Given the description of an element on the screen output the (x, y) to click on. 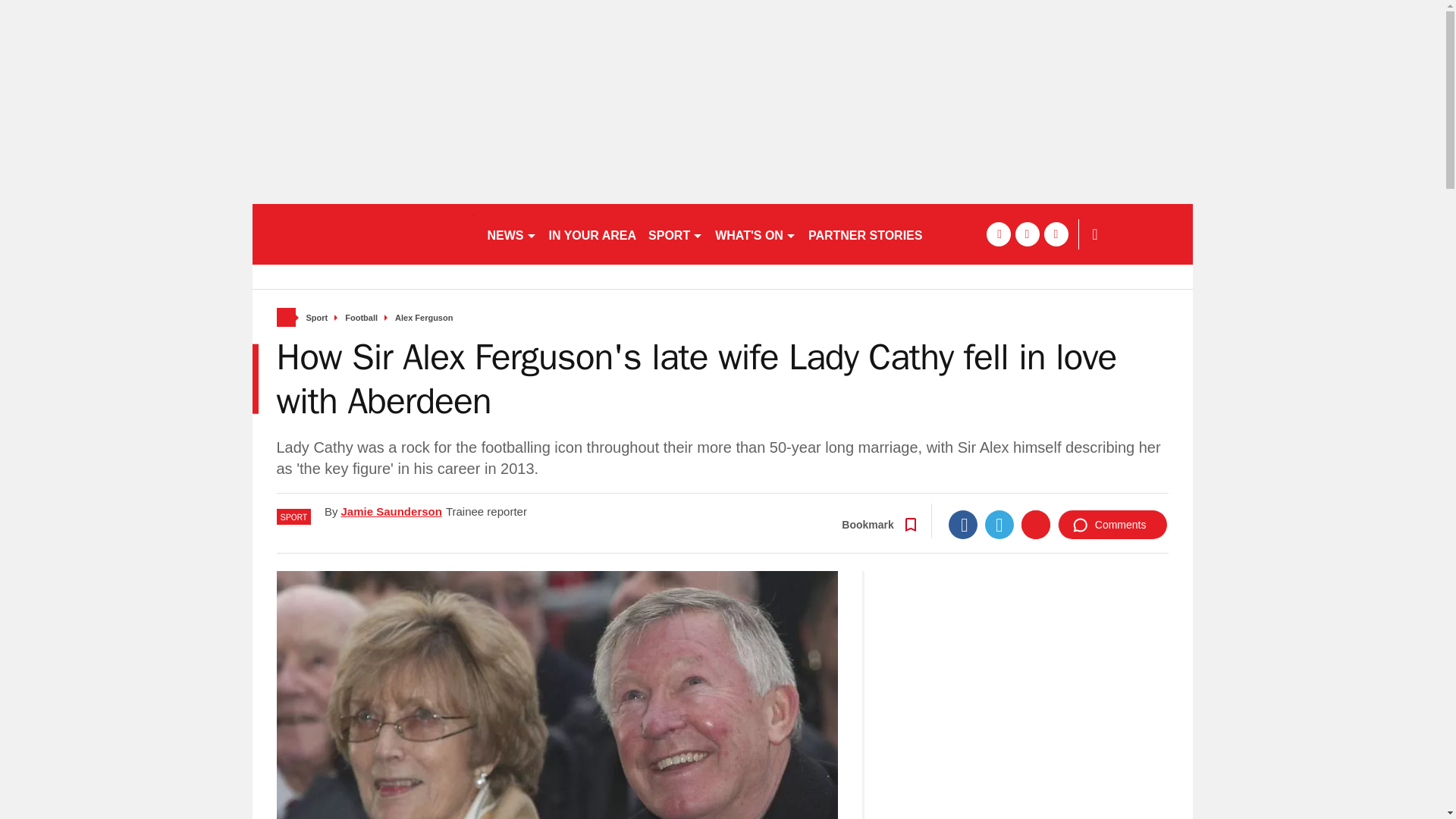
Twitter (999, 524)
NEWS (510, 233)
aberdeenlive (362, 233)
PARTNER STORIES (865, 233)
Comments (1112, 524)
SPORT (675, 233)
facebook (997, 233)
WHAT'S ON (755, 233)
twitter (1026, 233)
IN YOUR AREA (593, 233)
